Given the description of an element on the screen output the (x, y) to click on. 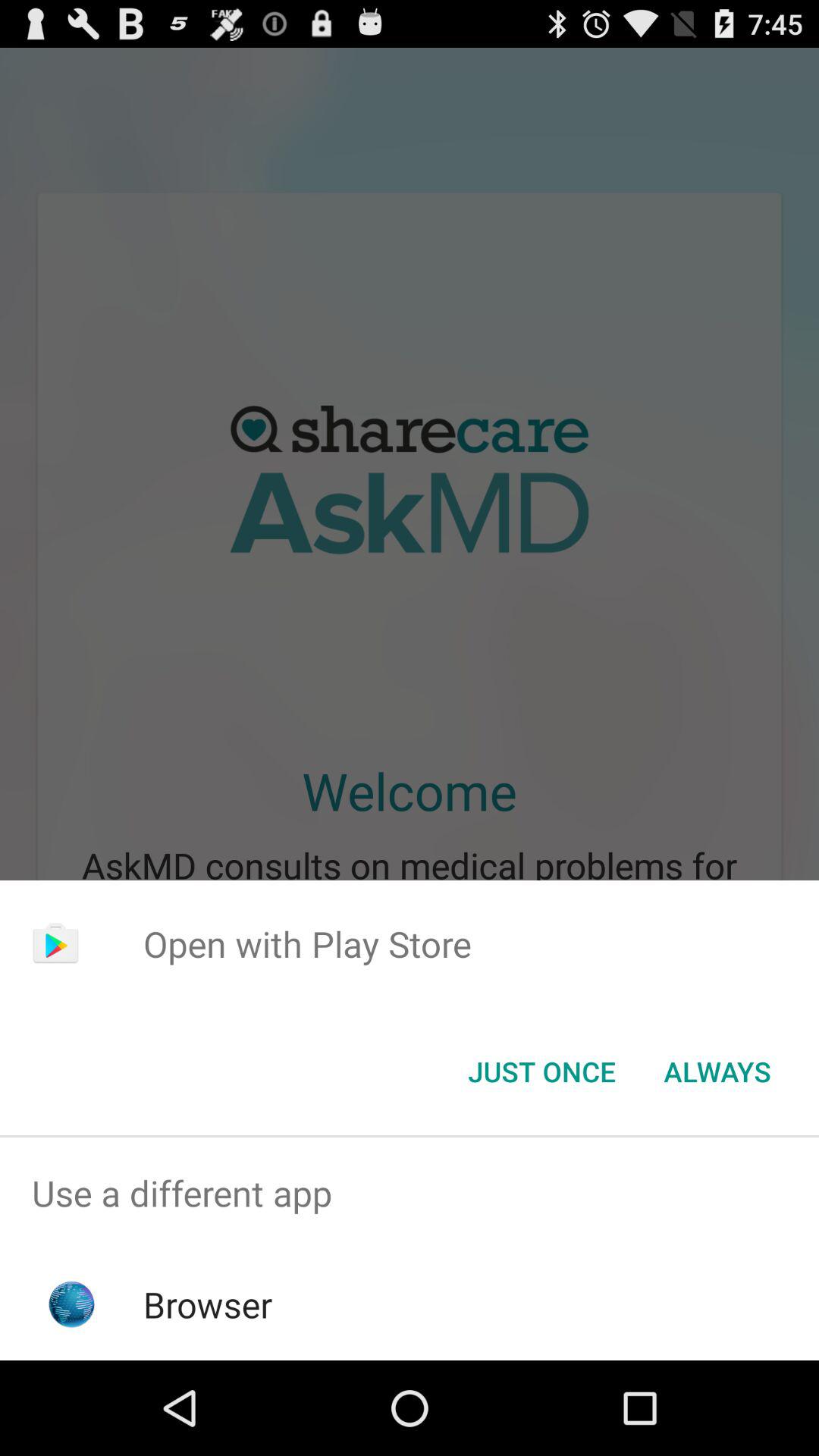
turn on browser item (207, 1304)
